Given the description of an element on the screen output the (x, y) to click on. 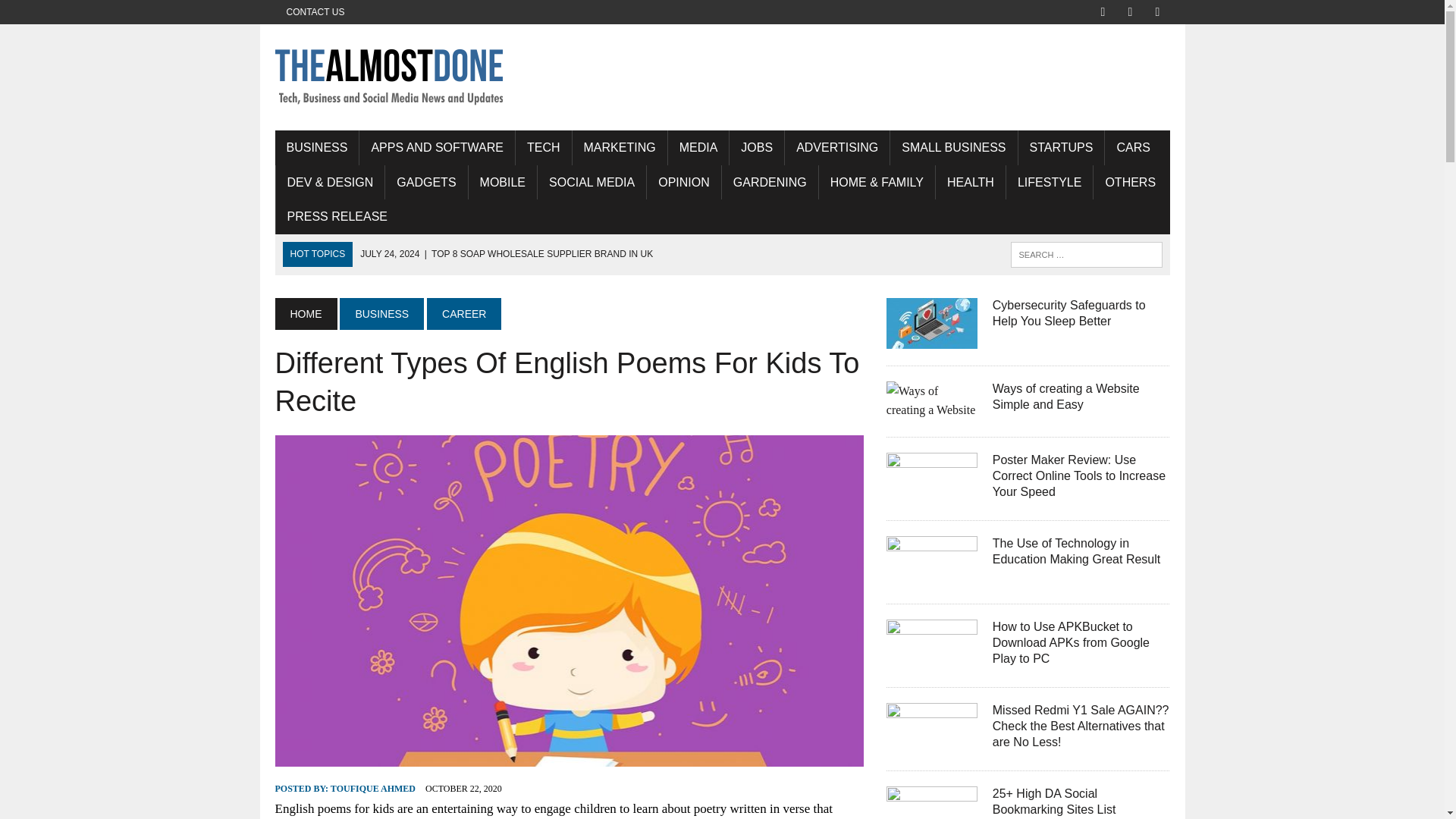
Cybersecurity Safeguards to Help You Sleep Better (931, 338)
LIFESTYLE (1049, 182)
MARKETING (619, 147)
MEDIA (698, 147)
Cybersecurity Safeguards to Help You Sleep Better (1068, 312)
STARTUPS (1061, 147)
SOCIAL MEDIA (591, 182)
TECH (543, 147)
CONTACT US (315, 12)
Ways of creating a Website Simple and Easy (931, 409)
